Given the description of an element on the screen output the (x, y) to click on. 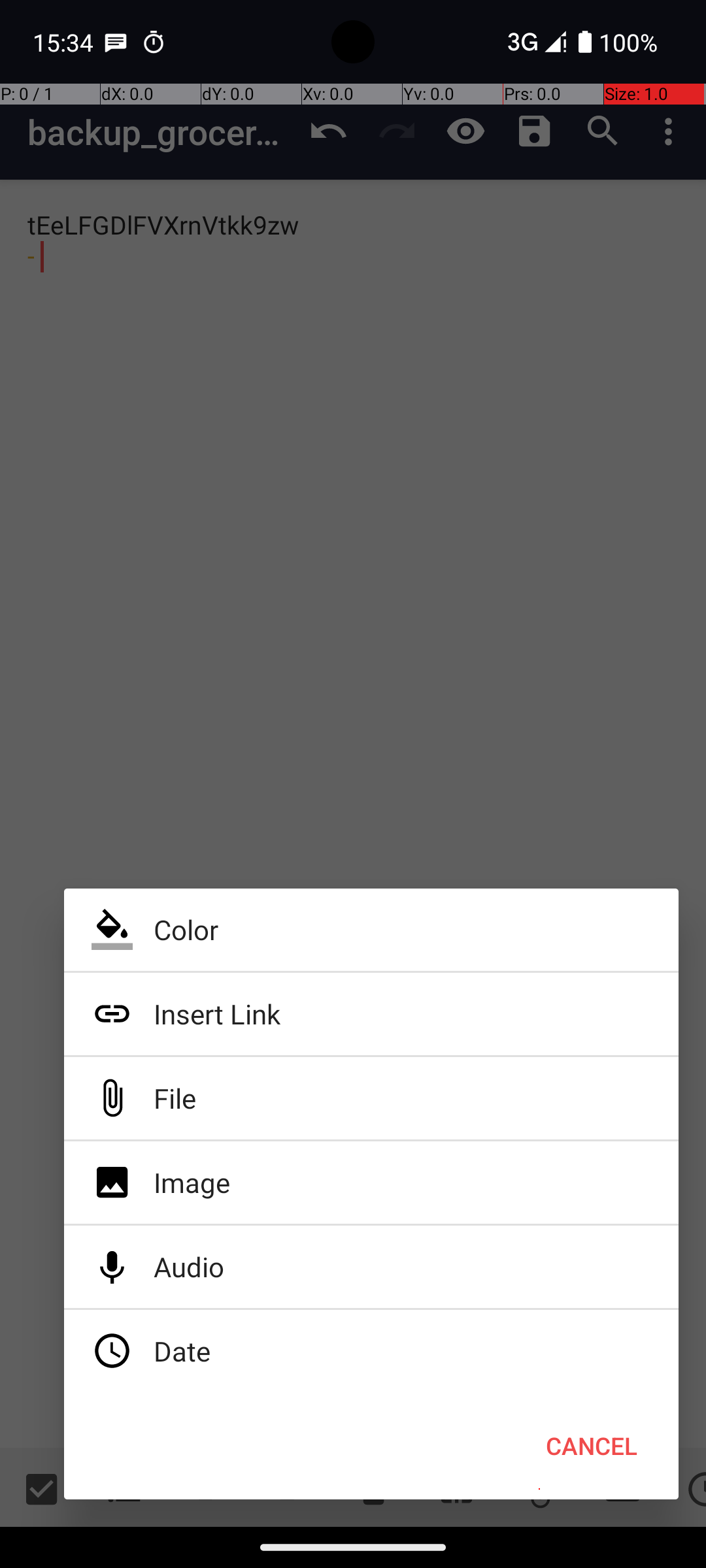
Insert Link Element type: android.widget.TextView (371, 1013)
File Element type: android.widget.TextView (371, 1098)
Image Element type: android.widget.TextView (371, 1182)
